Given the description of an element on the screen output the (x, y) to click on. 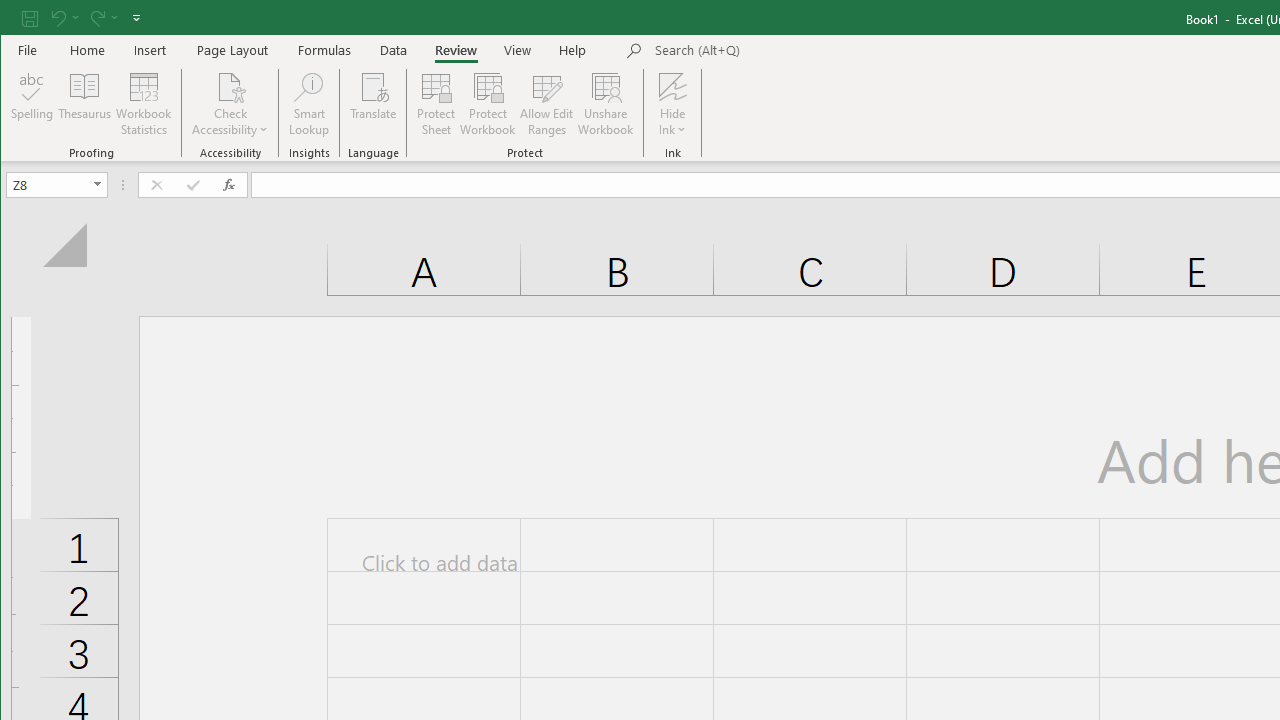
Data (394, 50)
Spelling... (32, 104)
Review (456, 50)
Allow Edit Ranges (547, 104)
Check Accessibility (230, 86)
Hide Ink (672, 104)
Hide Ink (672, 86)
Customize Quick Access Toolbar (136, 17)
Microsoft search (794, 51)
View (518, 50)
Protect Sheet... (436, 104)
Translate (373, 104)
